Given the description of an element on the screen output the (x, y) to click on. 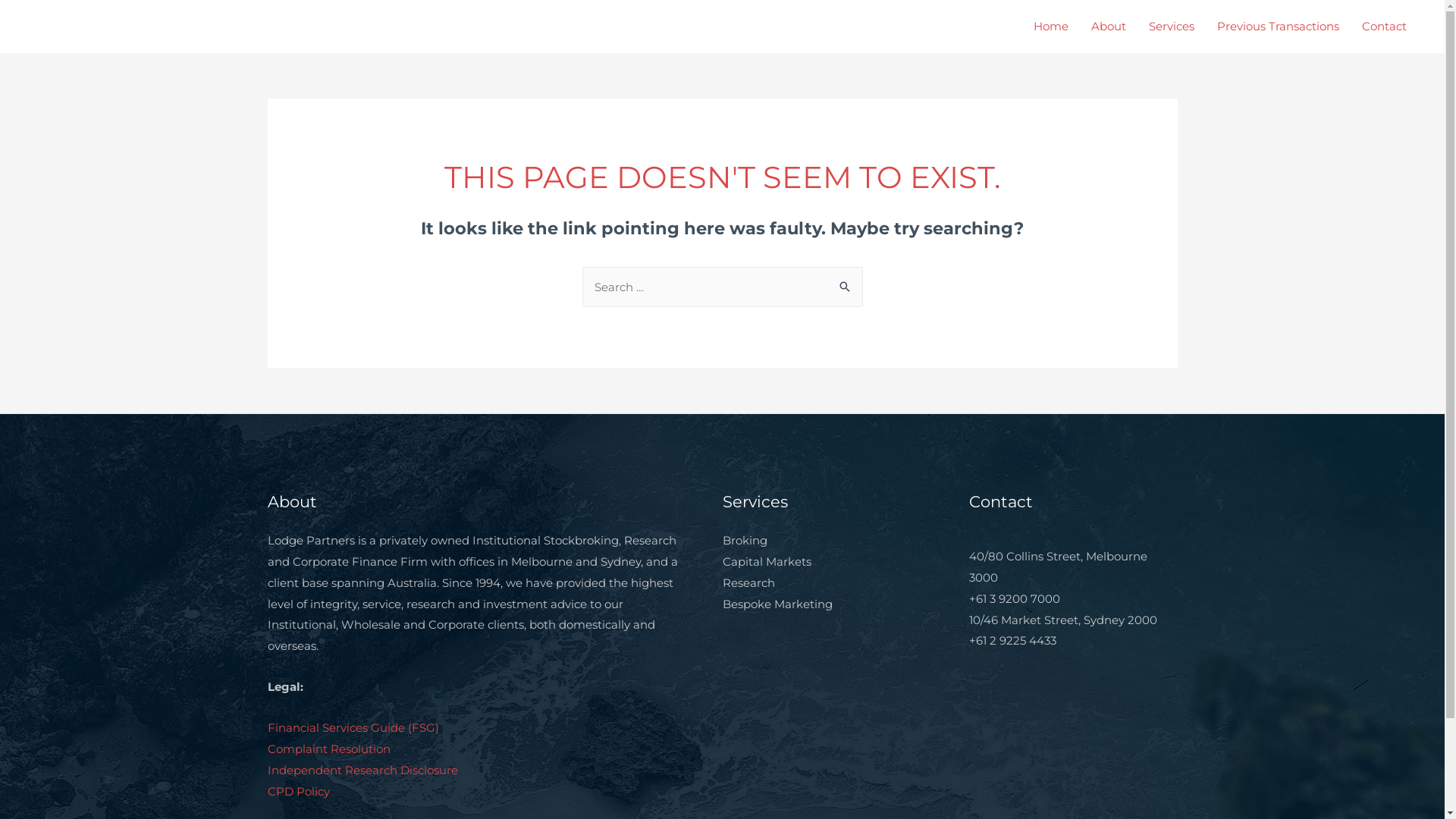
Capital Markets Element type: text (765, 561)
10/46 Market Street, Sydney 2000 Element type: text (1063, 619)
About Element type: text (1108, 26)
Search Element type: text (845, 282)
+61 2 9225 4433 Element type: text (1012, 640)
Broking Element type: text (743, 540)
Bespoke Marketing Element type: text (776, 603)
Home Element type: text (1050, 26)
Complaint Resolution Element type: text (327, 748)
Contact Element type: text (1384, 26)
Services Element type: text (1171, 26)
40/80 Collins Street, Melbourne 3000 Element type: text (1058, 566)
Previous Transactions Element type: text (1277, 26)
CPD Policy Element type: text (297, 791)
Independent Research Disclosure Element type: text (361, 769)
Financial Services Guide (FSG) Element type: text (352, 727)
+61 3 9200 7000 Element type: text (1014, 598)
Research Element type: text (747, 582)
